Given the description of an element on the screen output the (x, y) to click on. 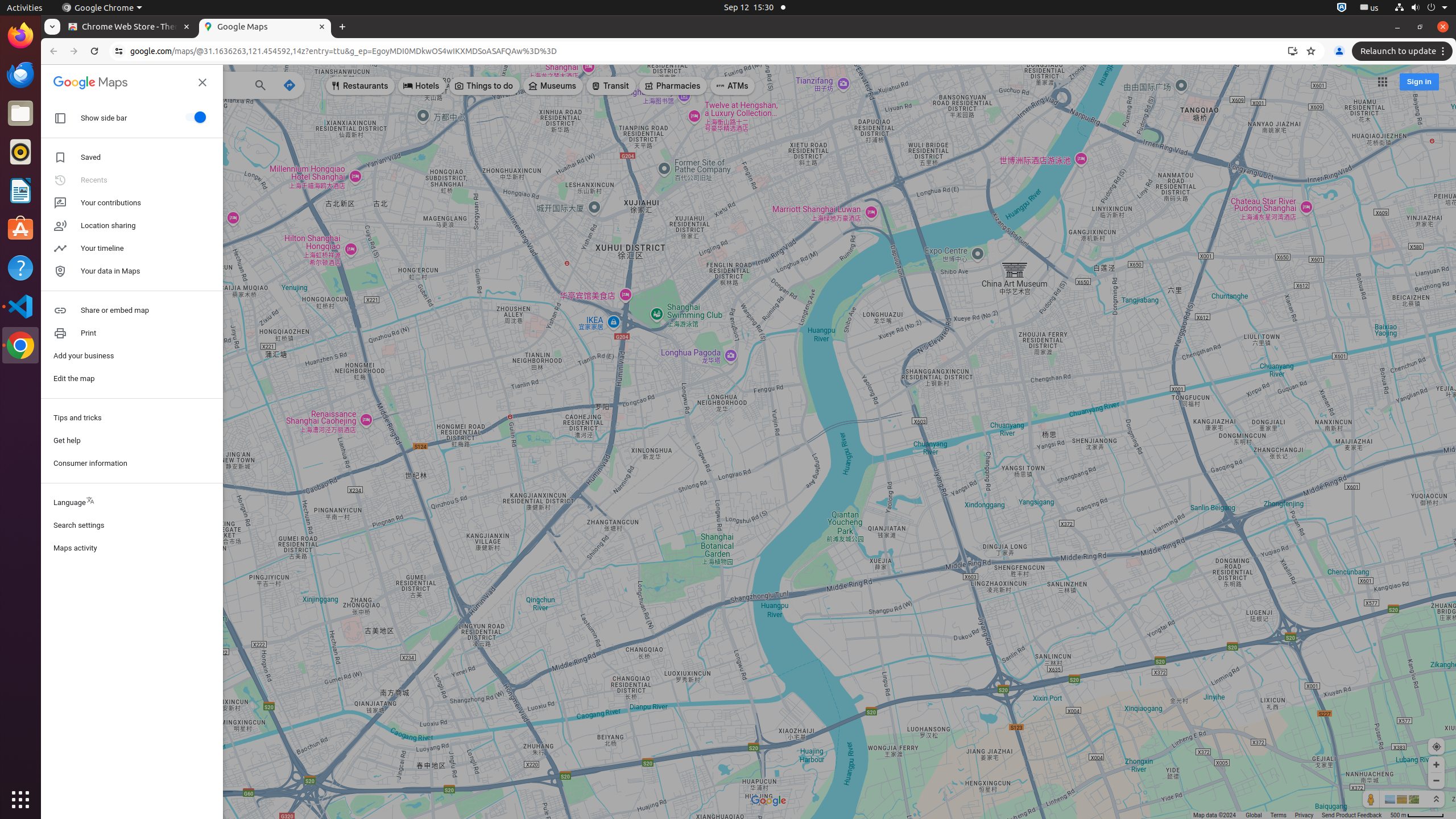
Edit the map Element type: menu-item (131, 378)
System Element type: menu (1420, 7)
Google Maps - Memory usage - 33.1 MB Element type: page-tab (264, 26)
Your timeline Element type: menu-item (131, 248)
Settings Element type: menu (131, 441)
